Given the description of an element on the screen output the (x, y) to click on. 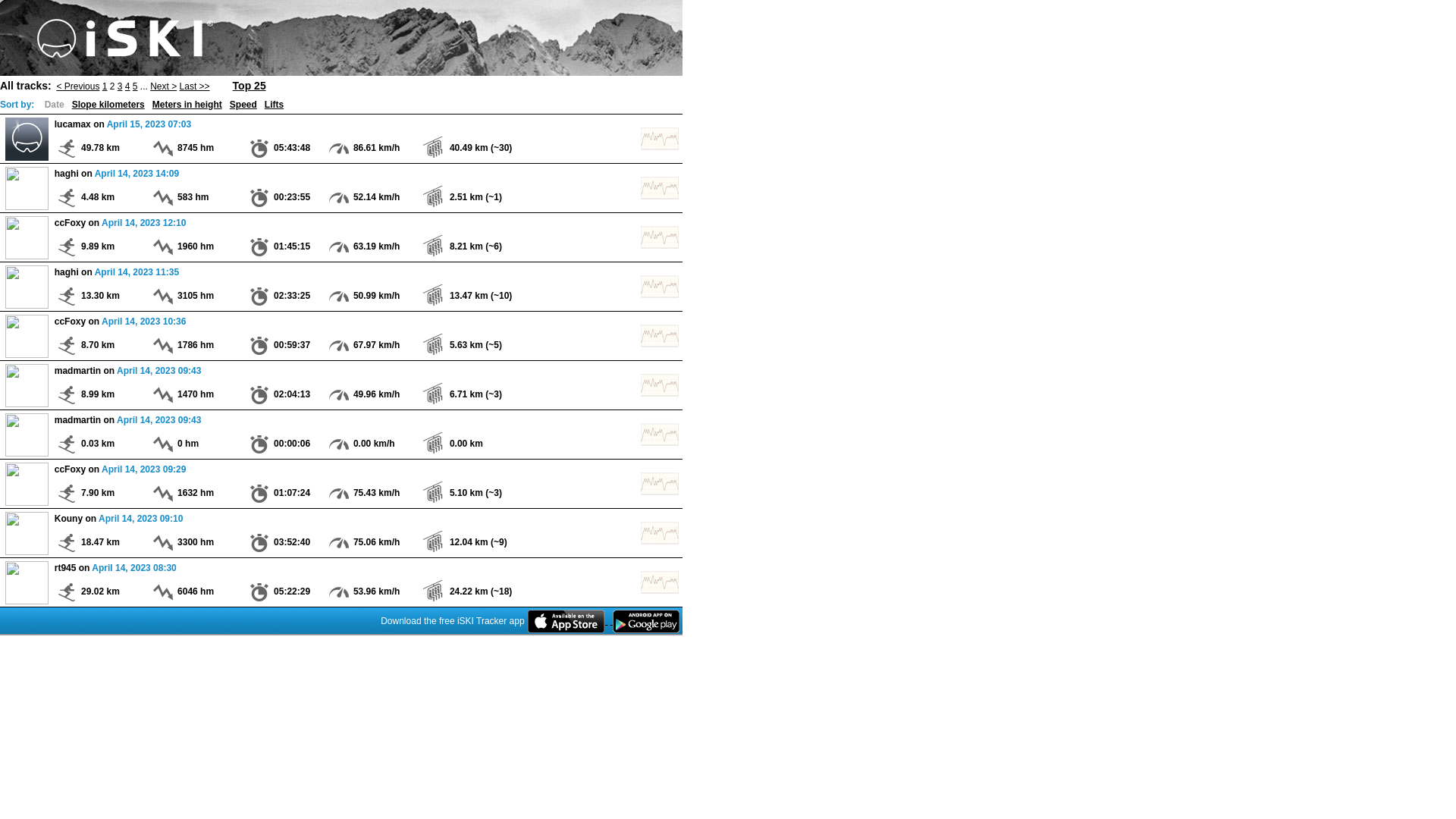
4 Element type: text (127, 85)
Next > Element type: text (163, 85)
Meters in height Element type: text (187, 103)
Speed Element type: text (243, 103)
5 Element type: text (135, 85)
Slope kilometers Element type: text (108, 103)
Top 25 Element type: text (249, 84)
1 Element type: text (104, 85)
Last >> Element type: text (194, 85)
Lifts Element type: text (273, 103)
< Previous Element type: text (77, 85)
3 Element type: text (119, 85)
